Given the description of an element on the screen output the (x, y) to click on. 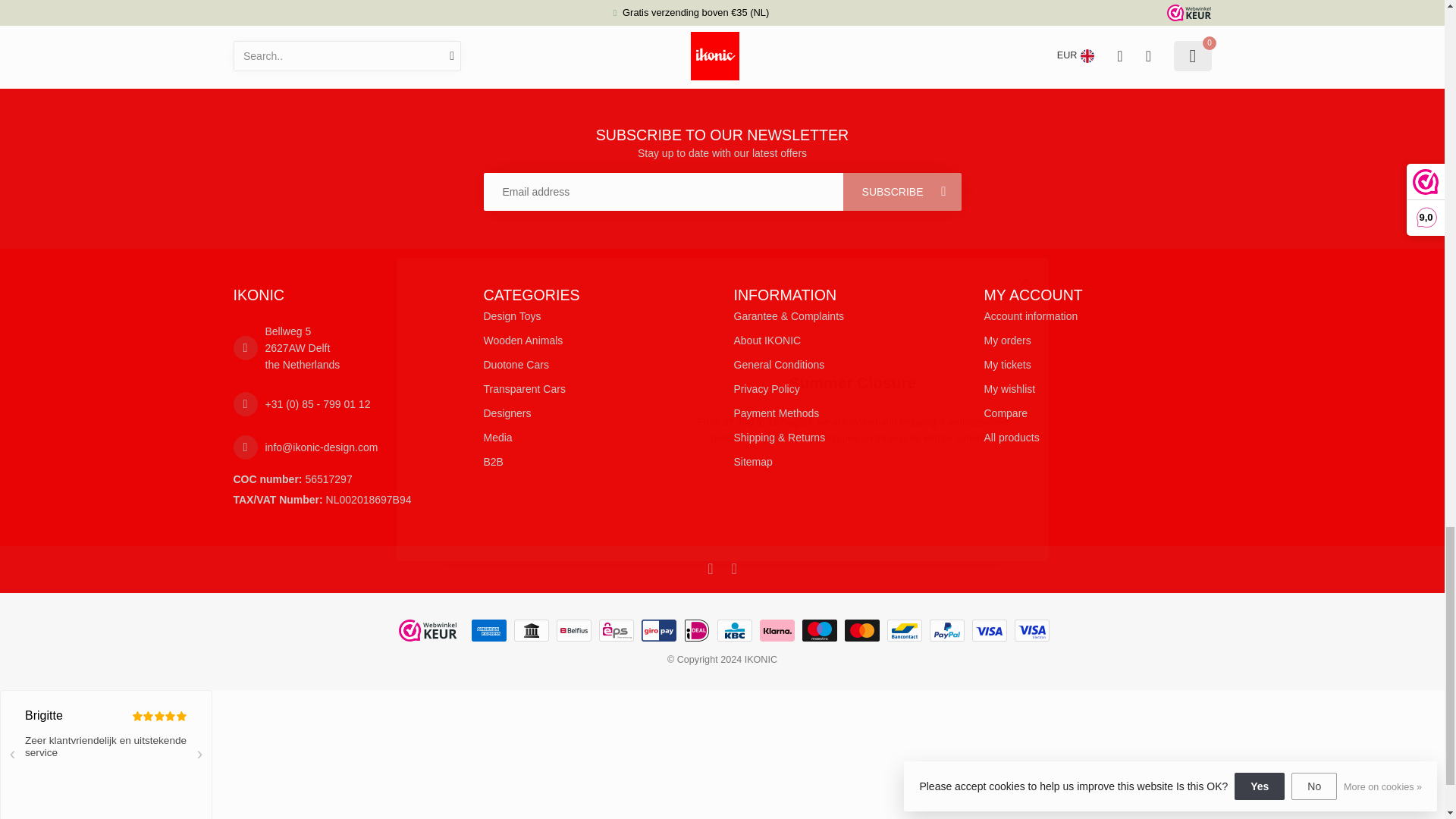
Payment Methods (846, 413)
About IKONIC (846, 340)
General Conditions (846, 364)
1 (389, 8)
Privacy Policy (846, 388)
